Given the description of an element on the screen output the (x, y) to click on. 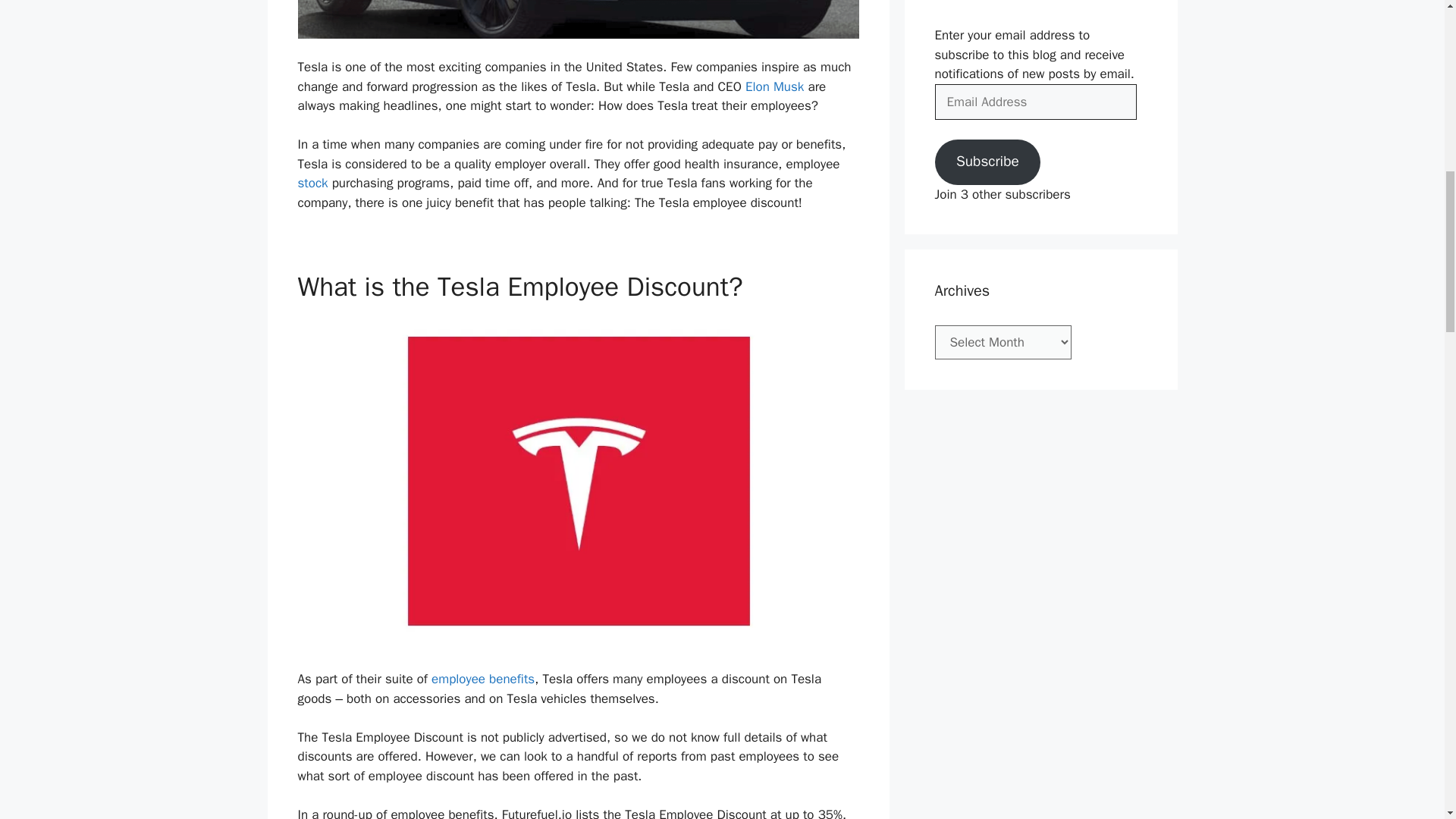
stock (312, 182)
Subscribe (987, 162)
employee benefits (482, 678)
Elon Musk (774, 86)
